Given the description of an element on the screen output the (x, y) to click on. 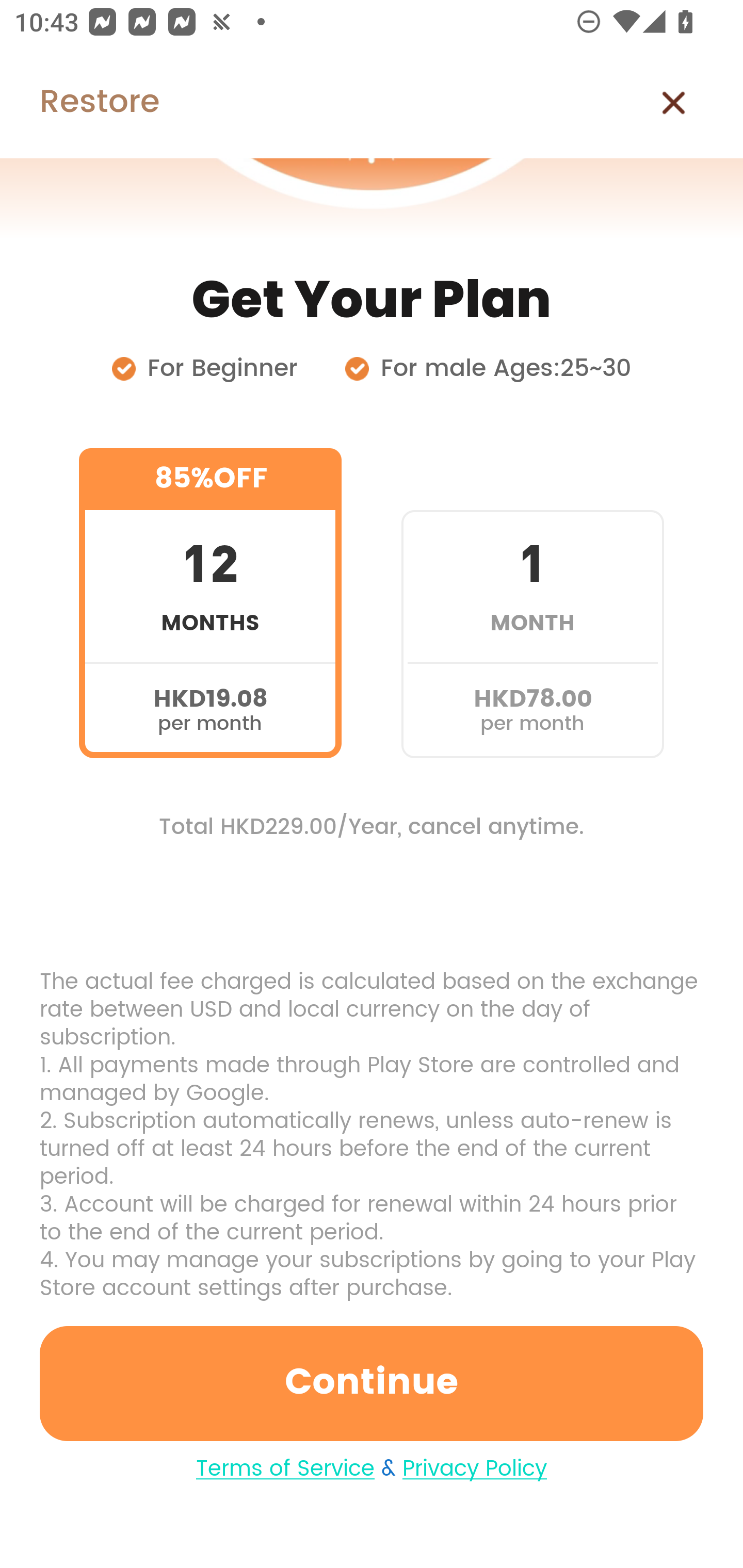
Restore (79, 102)
85%OFF 12 MONTHS per month HKD19.08 (209, 603)
1 MONTH per month HKD78.00 (532, 603)
Continue (371, 1383)
